Given the description of an element on the screen output the (x, y) to click on. 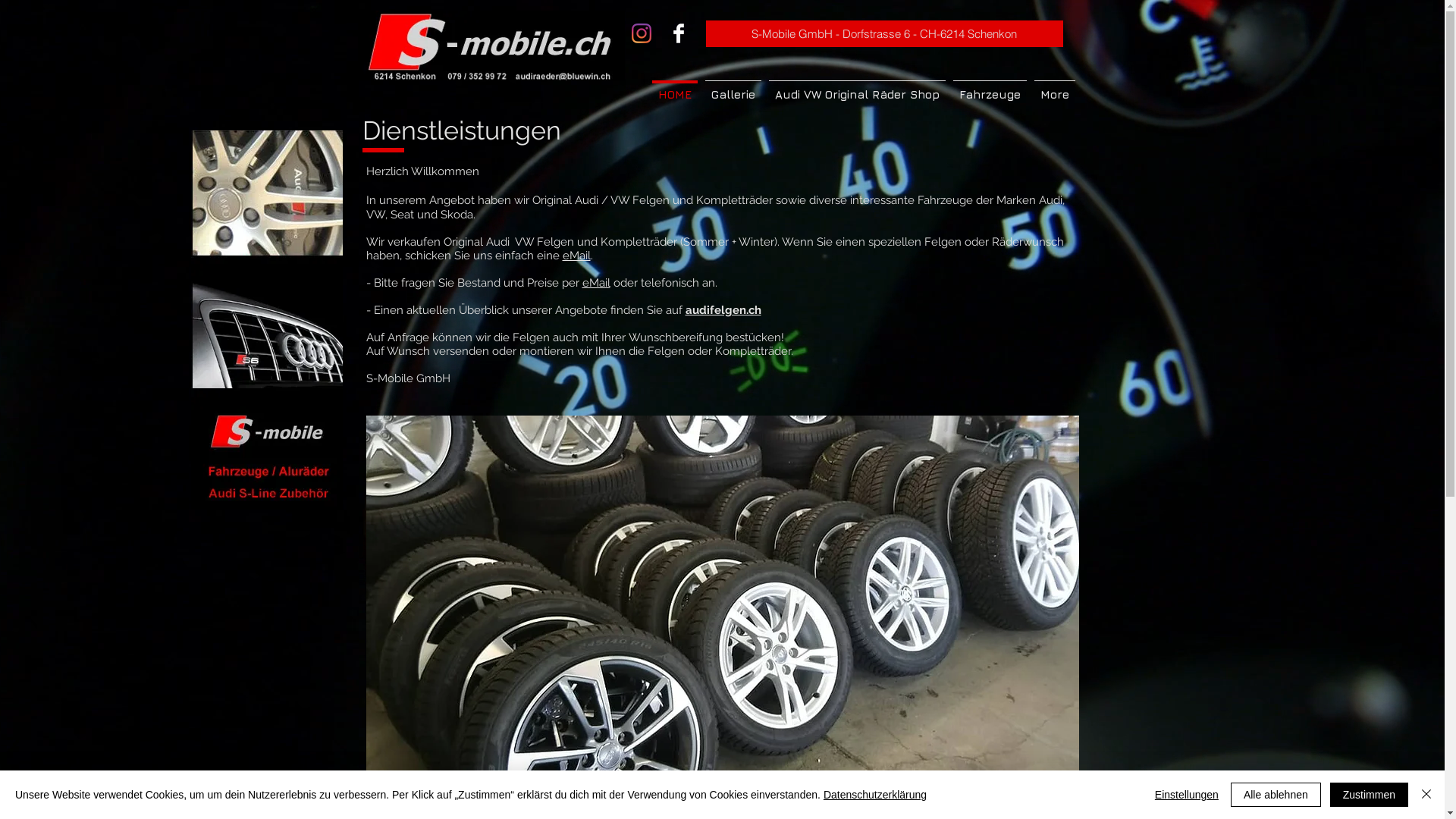
audifelgen.ch Element type: text (723, 309)
Alle ablehnen Element type: text (1275, 794)
eMail Element type: text (576, 255)
Gallerie Element type: text (732, 87)
S-Mobile GmbH - Dorfstrasse 6 - CH-6214 Schenkon Element type: text (883, 33)
eMail Element type: text (596, 282)
Embedded Content Element type: hover (722, 402)
Zustimmen Element type: text (1369, 794)
HOME Element type: text (673, 87)
Fahrzeuge Element type: text (989, 87)
